Given the description of an element on the screen output the (x, y) to click on. 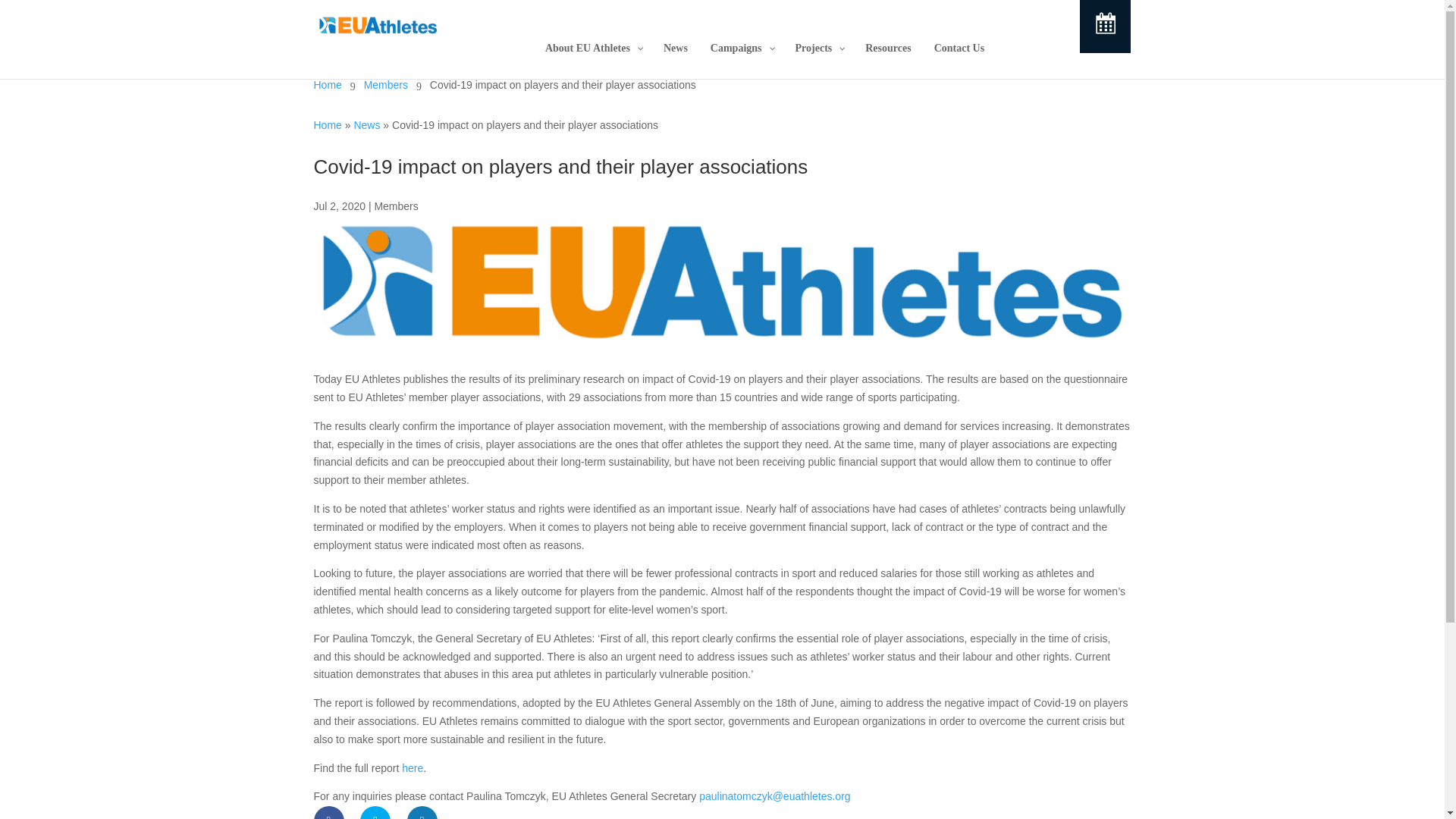
Resources (887, 48)
About EU Athletes (593, 48)
Events Calendar (1105, 29)
Contact Us (959, 48)
Campaigns (741, 48)
Projects (819, 48)
News (675, 48)
